Given the description of an element on the screen output the (x, y) to click on. 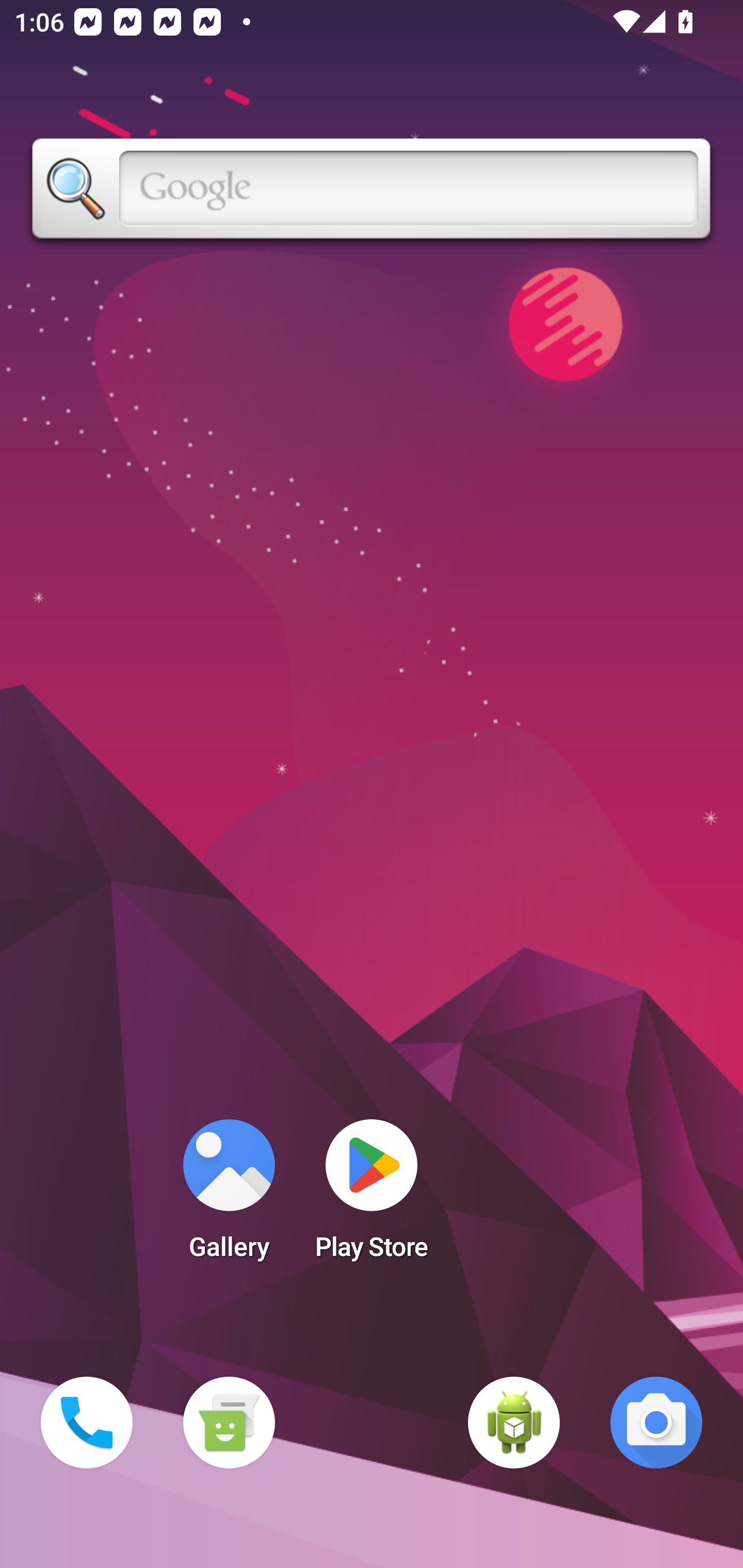
Gallery (228, 1195)
Play Store (371, 1195)
Phone (86, 1422)
Messaging (228, 1422)
WebView Browser Tester (513, 1422)
Camera (656, 1422)
